Given the description of an element on the screen output the (x, y) to click on. 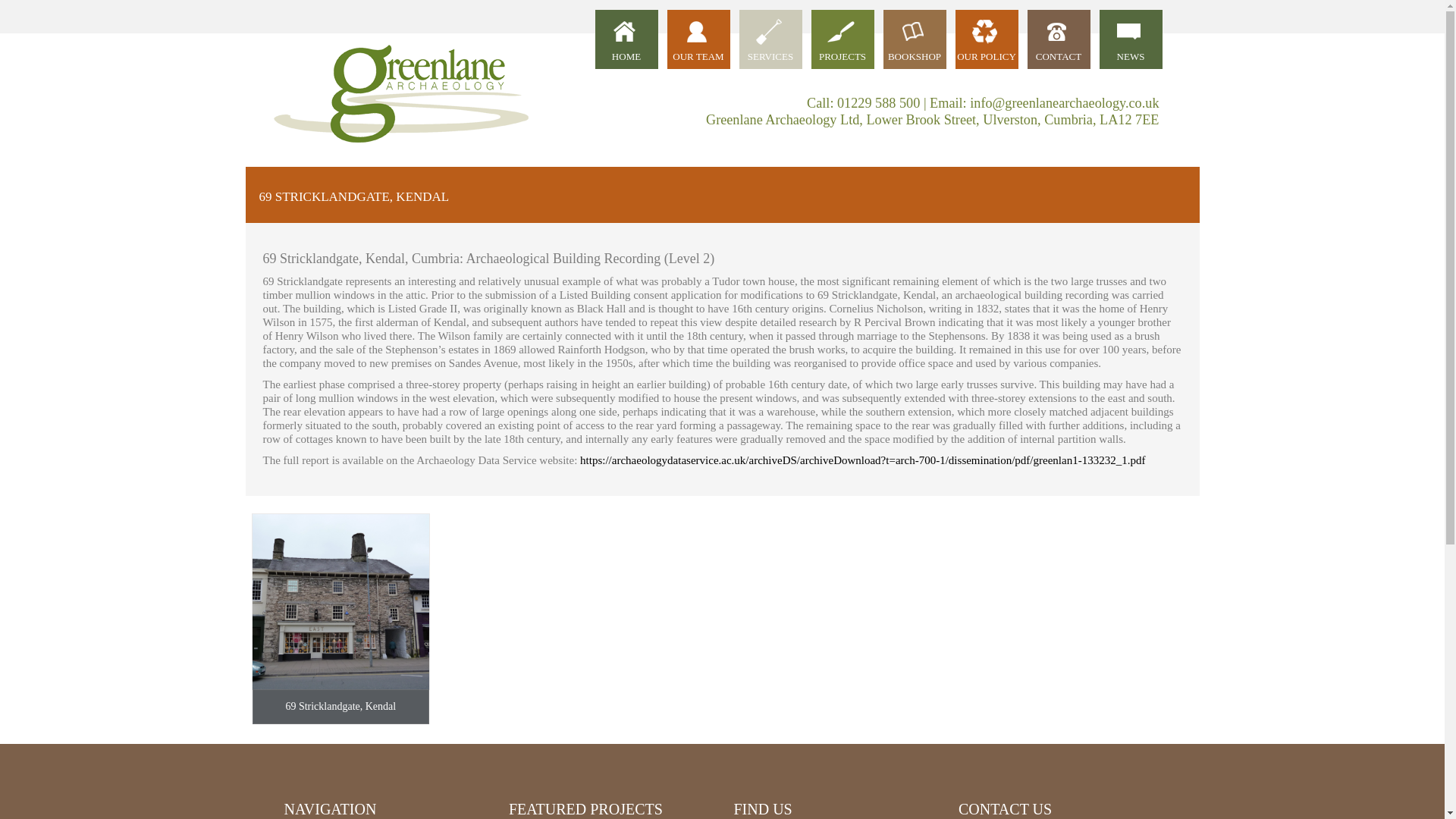
BOOKSHOP (913, 38)
CONTACT (1057, 38)
OUR POLICY (986, 38)
PROJECTS (842, 38)
OUR TEAM (698, 38)
NEWS (1130, 38)
SERVICES (770, 38)
HOME (626, 38)
